Given the description of an element on the screen output the (x, y) to click on. 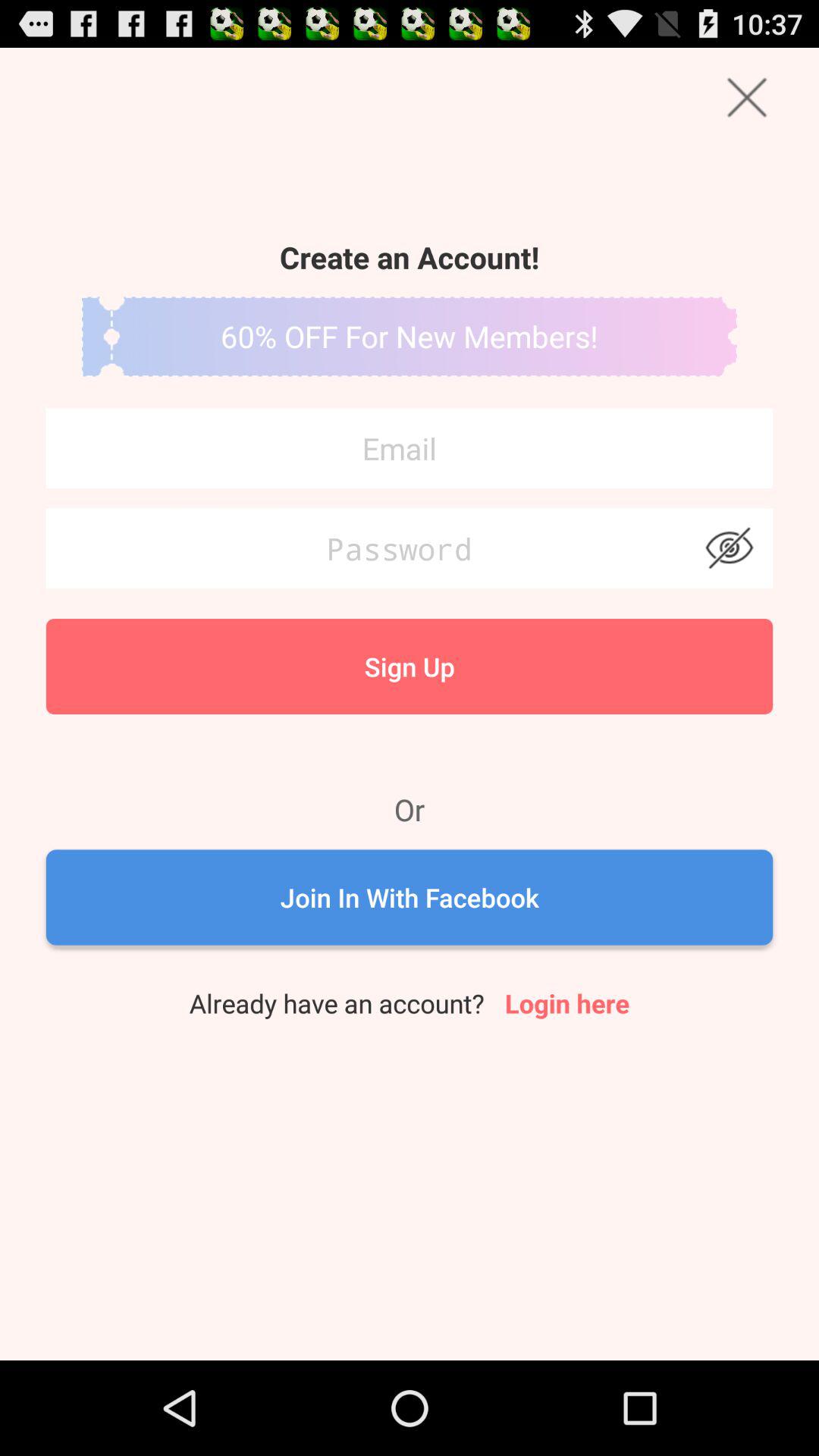
password (409, 548)
